Given the description of an element on the screen output the (x, y) to click on. 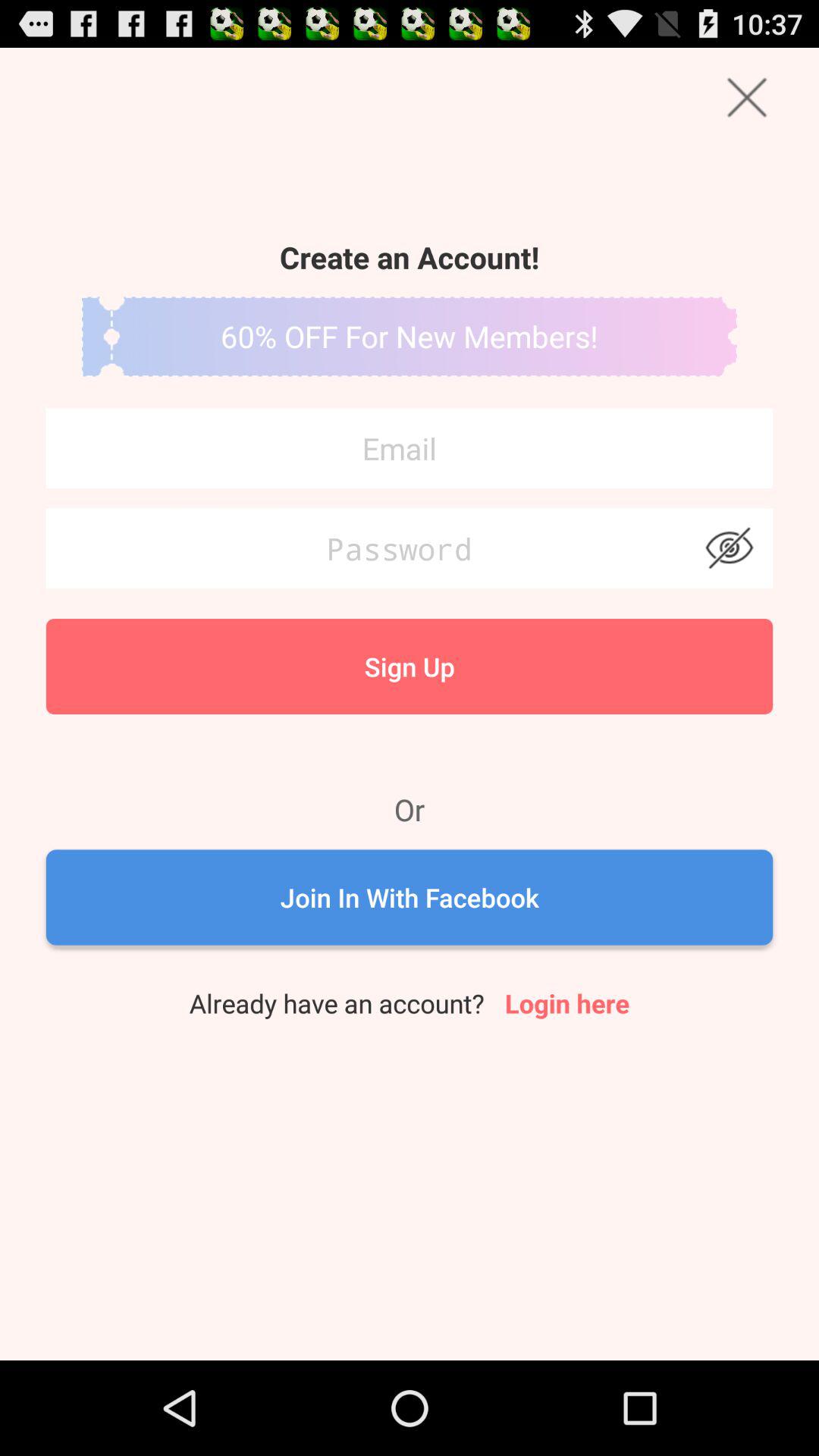
password (409, 548)
